Given the description of an element on the screen output the (x, y) to click on. 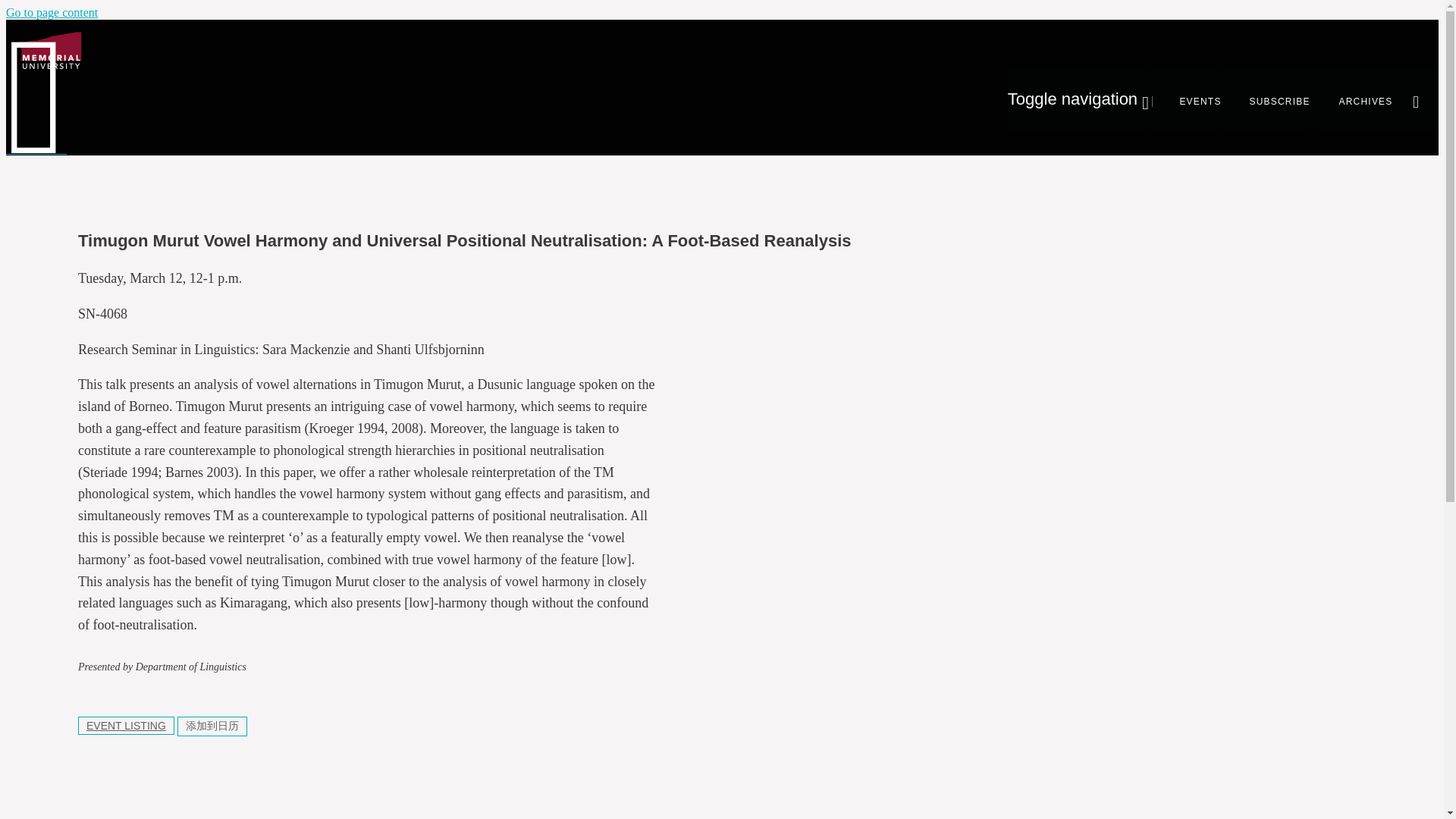
ARCHIVES (1353, 98)
Go to page content (51, 11)
Toggle navigation (1077, 98)
SUBSCRIBE (1267, 98)
EVENT LISTING (126, 725)
EVENTS (1186, 98)
